Given the description of an element on the screen output the (x, y) to click on. 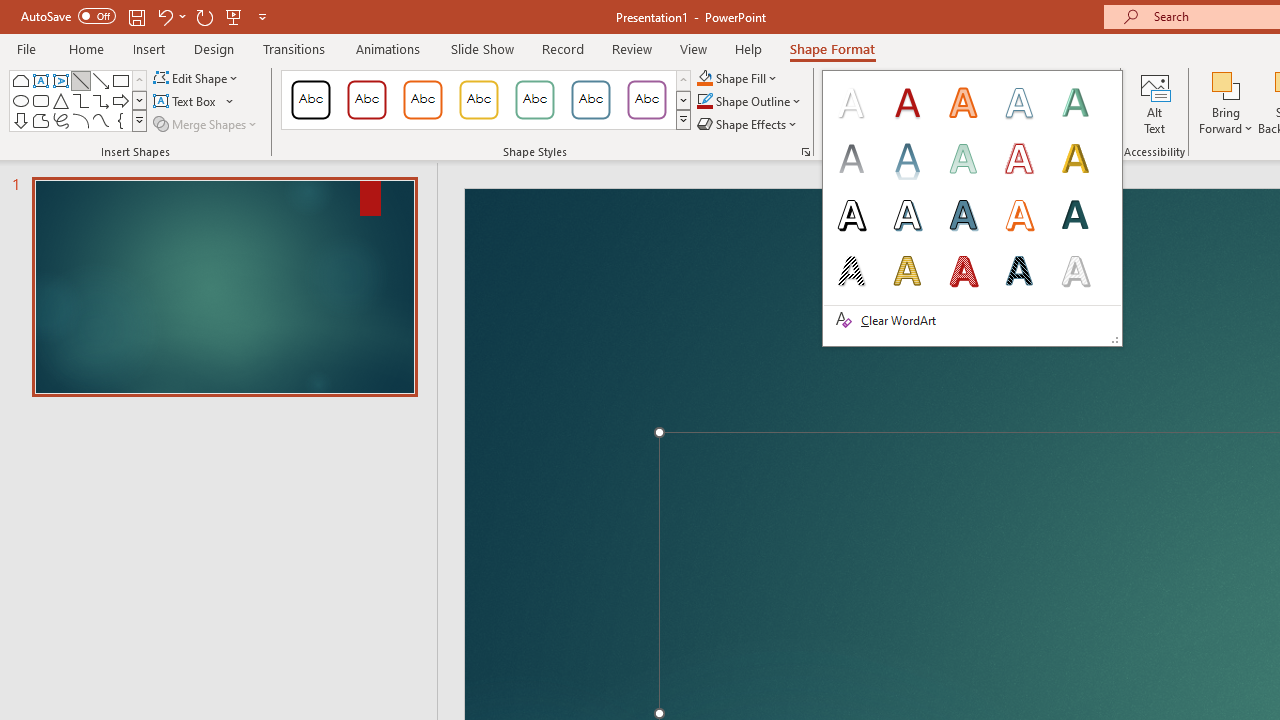
Draw Horizontal Text Box (185, 101)
AutomationID: ShapeStylesGallery (486, 99)
